Given the description of an element on the screen output the (x, y) to click on. 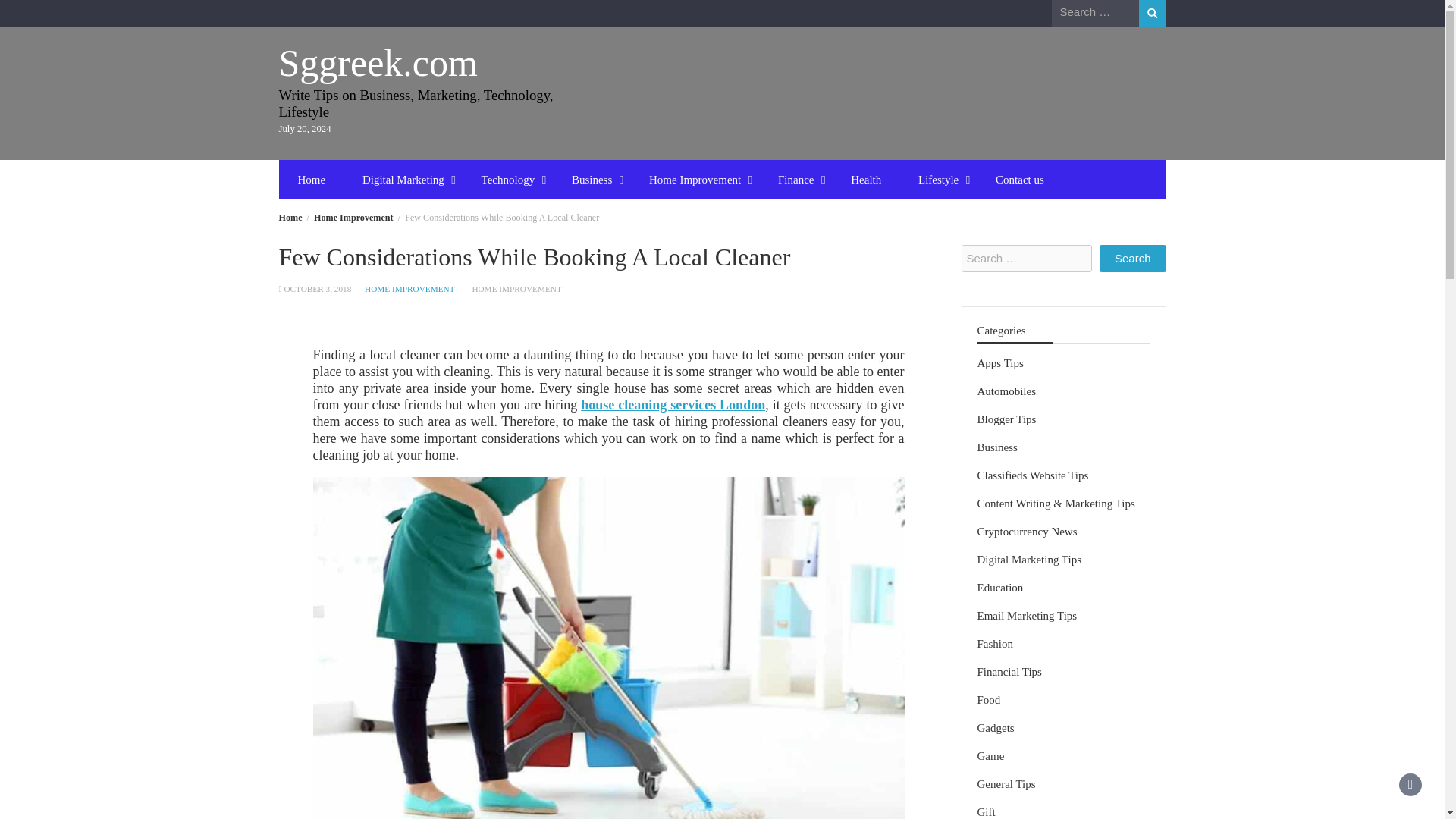
Technology (507, 178)
Home Improvement (353, 217)
Business (591, 178)
Search (1152, 13)
Search (1132, 258)
Home (311, 178)
Search for: (1026, 258)
Search (1152, 13)
Home (290, 217)
Search (1132, 258)
Health (865, 178)
Home Improvement (694, 178)
Contact us (1019, 178)
Search for: (1094, 12)
Search (1152, 13)
